Given the description of an element on the screen output the (x, y) to click on. 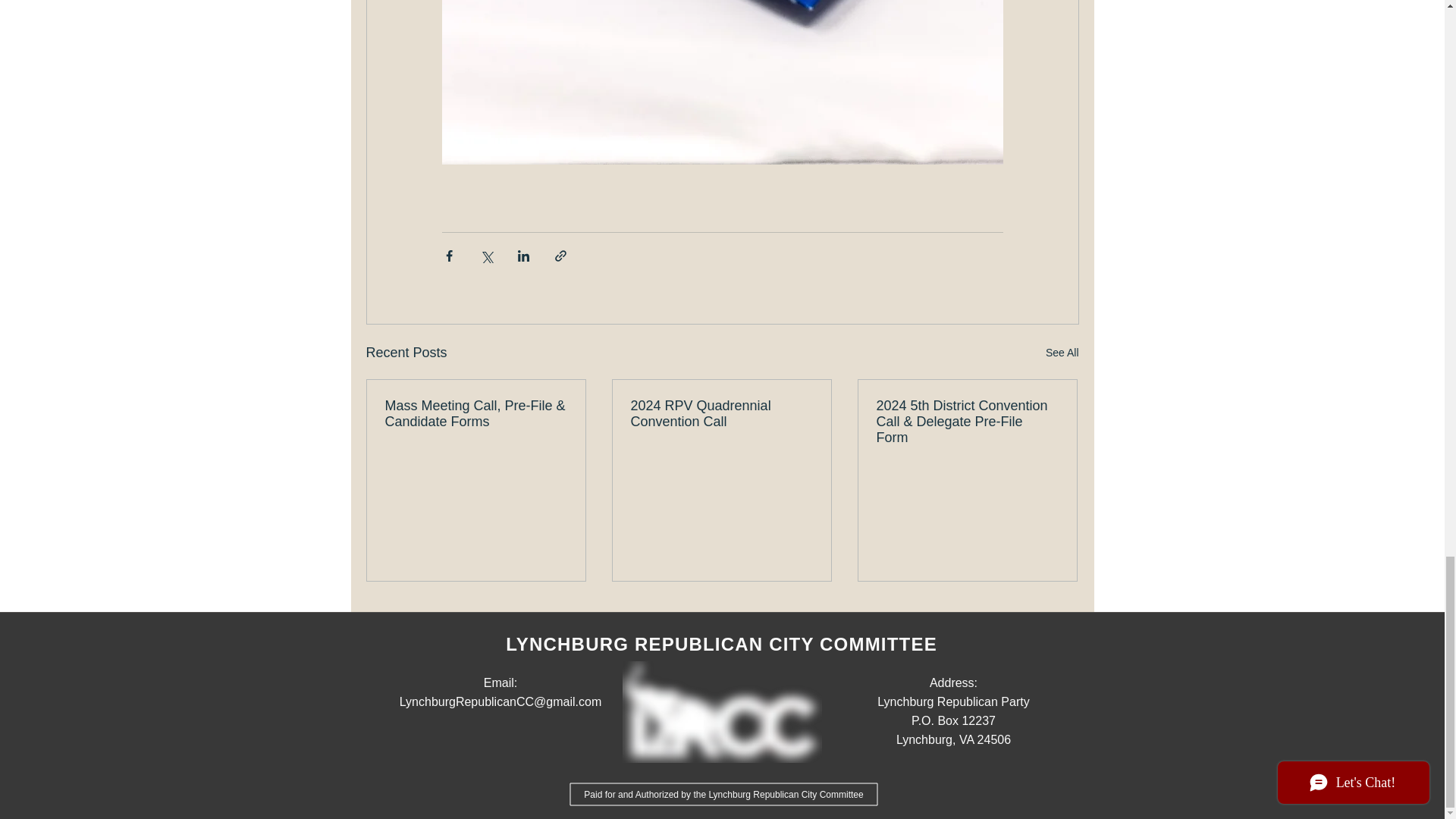
See All (1061, 352)
2024 RPV Quadrennial Convention Call (721, 413)
